Given the description of an element on the screen output the (x, y) to click on. 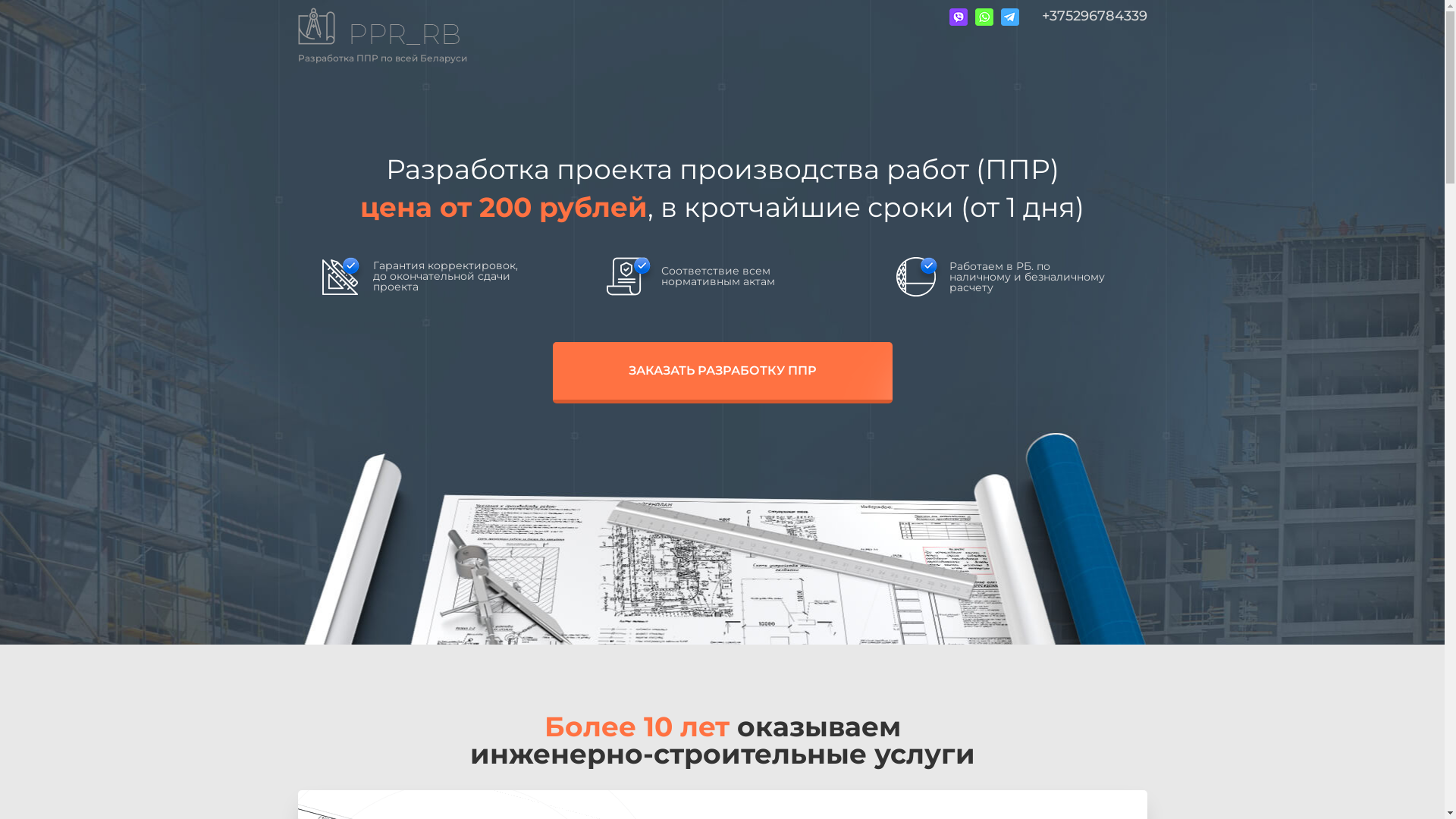
+375296784339 Element type: text (1094, 15)
